Given the description of an element on the screen output the (x, y) to click on. 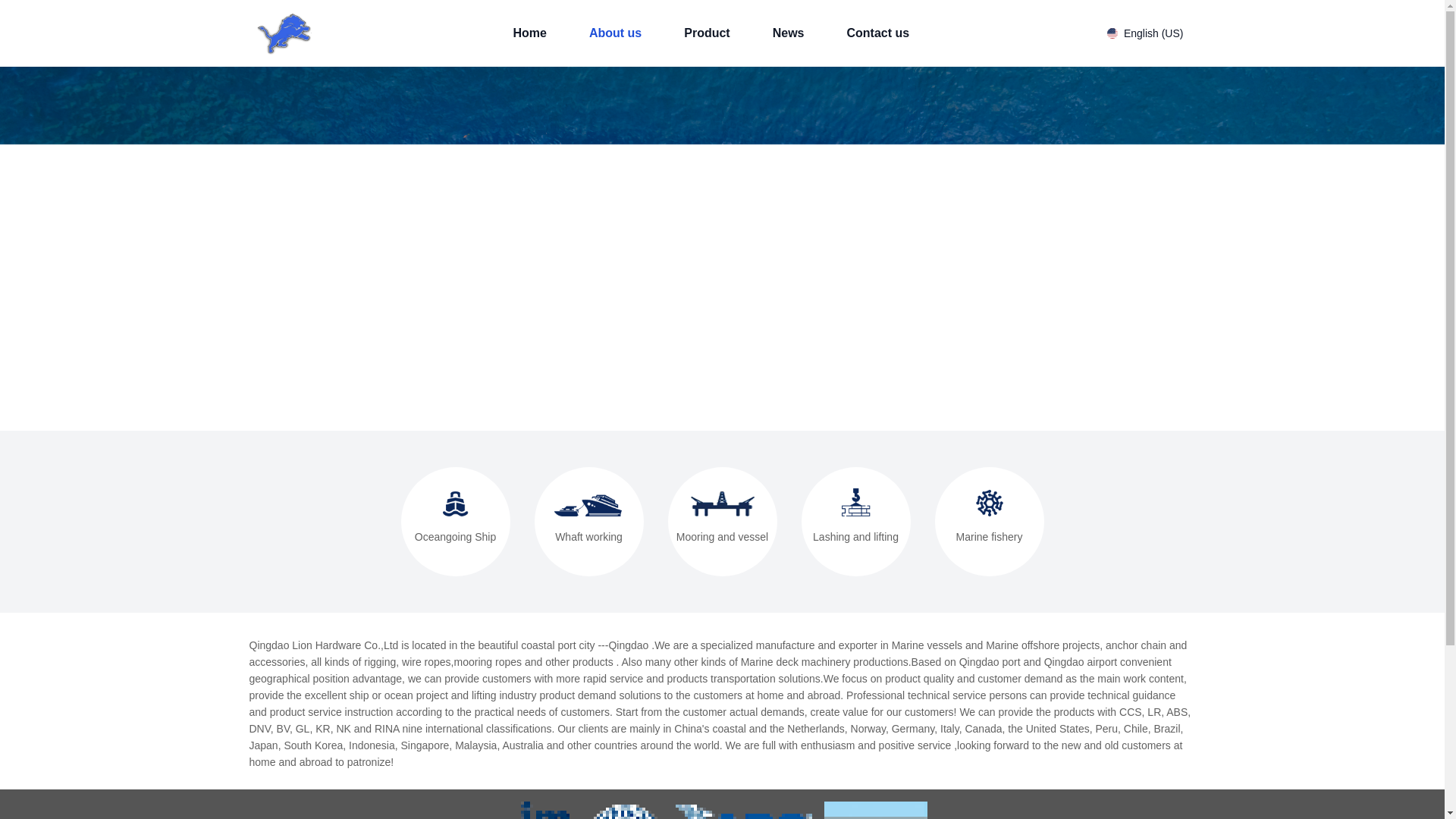
Contact us (876, 33)
Home (529, 33)
About us (615, 33)
News (789, 33)
Product (706, 33)
